Given the description of an element on the screen output the (x, y) to click on. 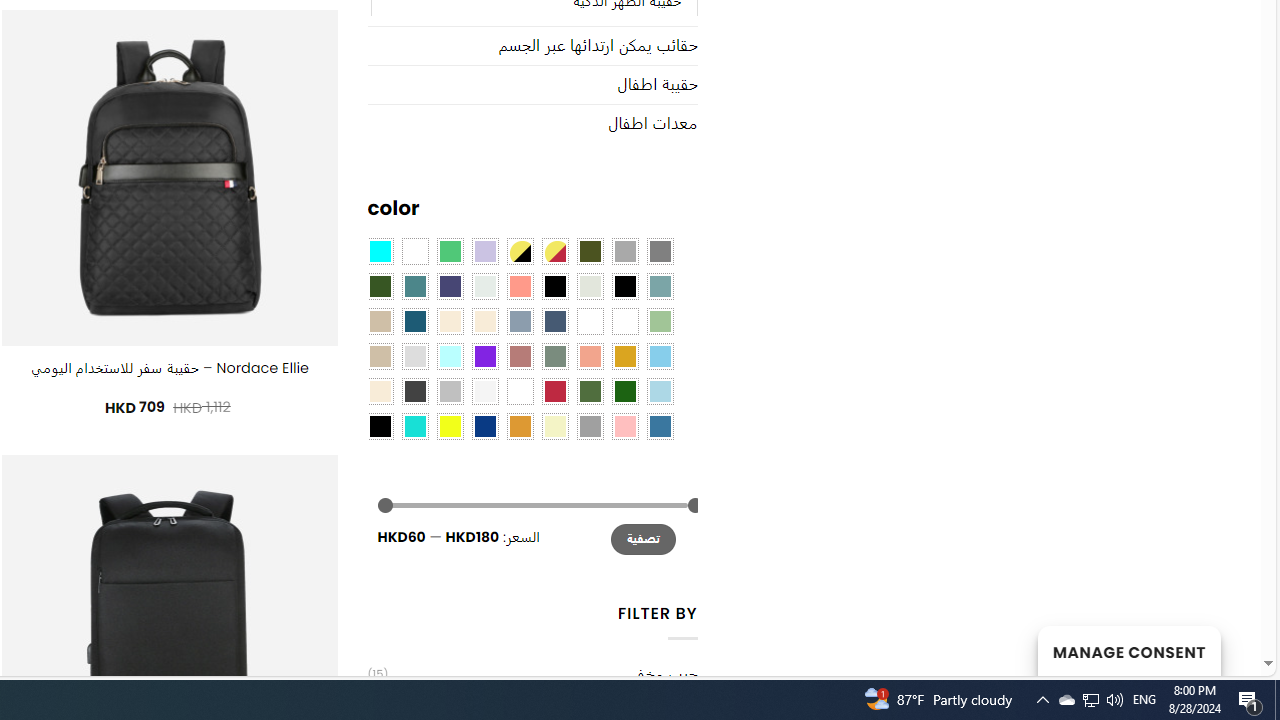
Light Green (659, 321)
Black-Brown (624, 285)
Light Purple (484, 251)
Forest (379, 285)
Capri Blue (414, 321)
Light Taupe (379, 355)
Khaki (624, 321)
